Given the description of an element on the screen output the (x, y) to click on. 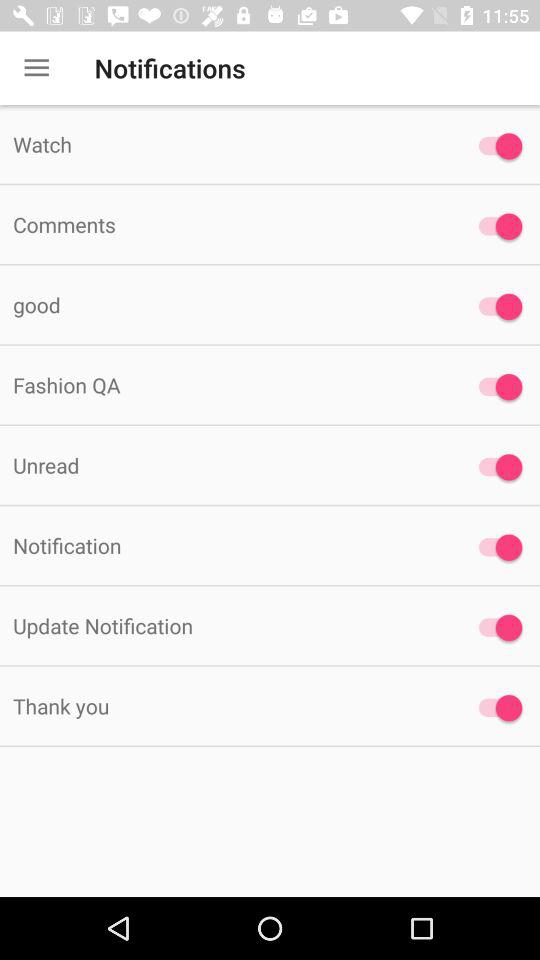
click the fashion qa icon (225, 384)
